Given the description of an element on the screen output the (x, y) to click on. 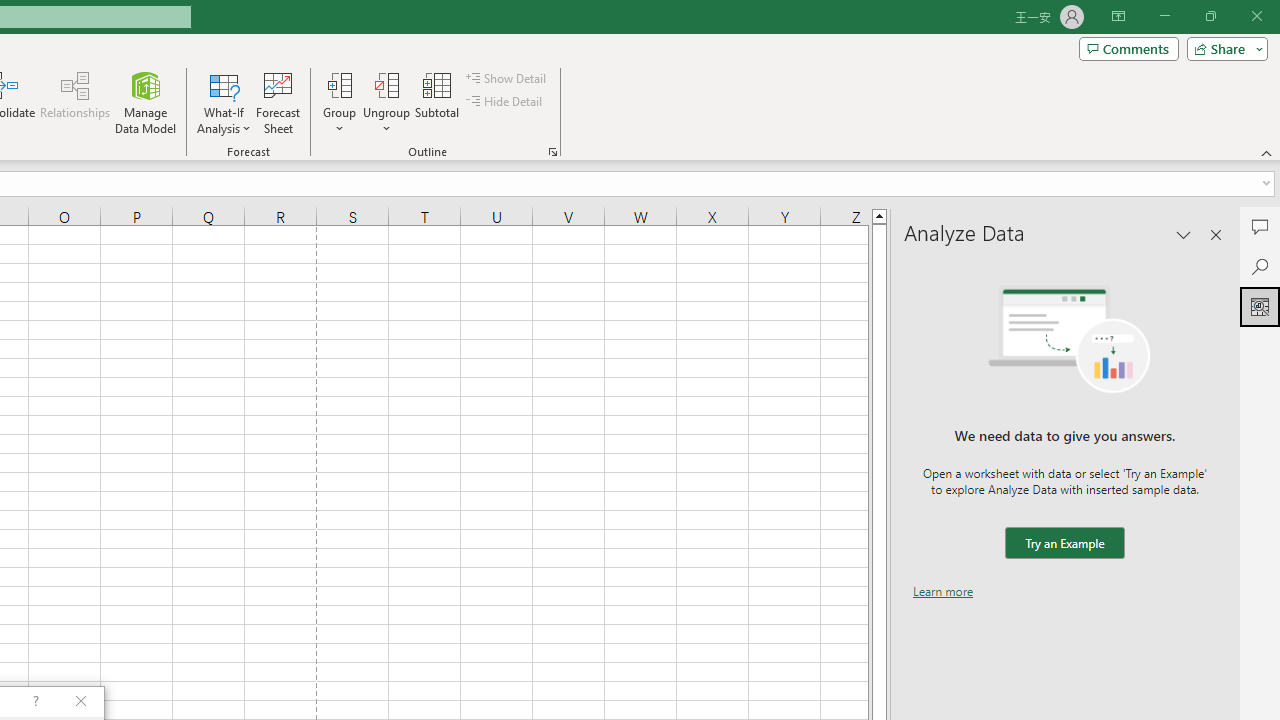
Subtotal (437, 102)
Manage Data Model (145, 102)
Analyze Data (1260, 306)
Group and Outline Settings (552, 151)
Learn more (943, 591)
We need data to give you answers. Try an Example (1064, 543)
